Given the description of an element on the screen output the (x, y) to click on. 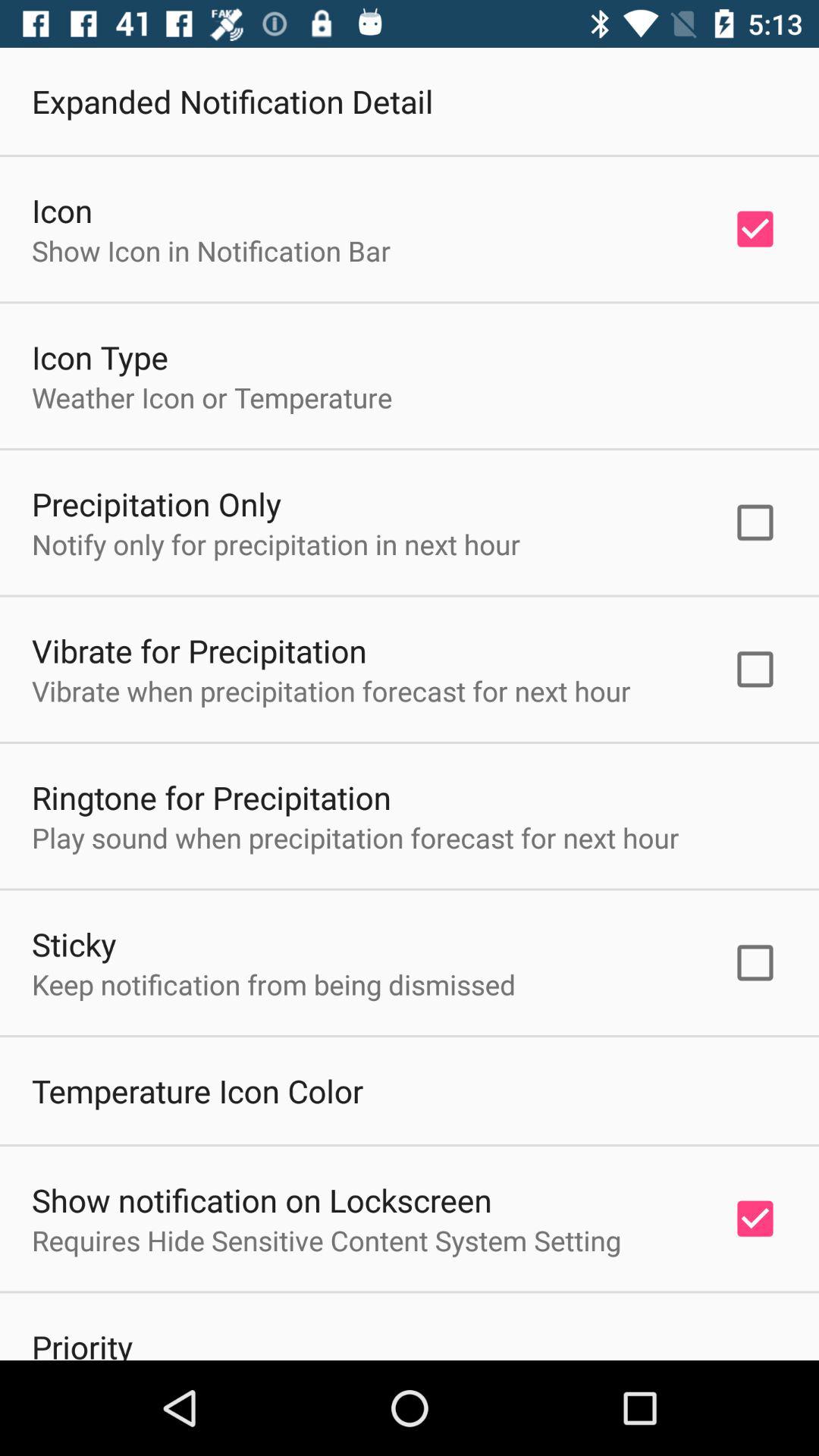
turn off the icon below the ringtone for precipitation item (355, 837)
